Given the description of an element on the screen output the (x, y) to click on. 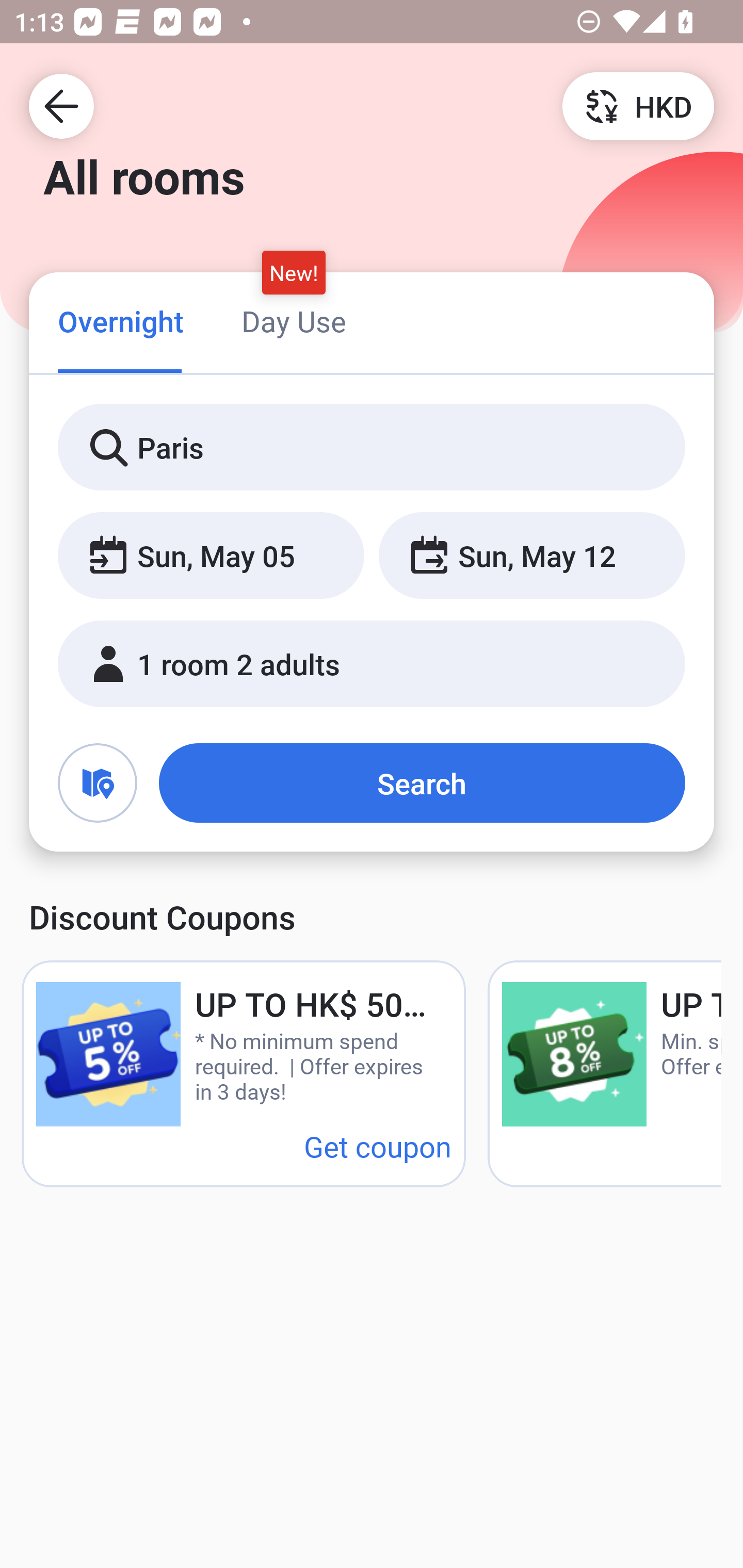
HKD (638, 105)
New! (294, 272)
Day Use (293, 321)
Paris (371, 447)
Sun, May 05 (210, 555)
Sun, May 12 (531, 555)
1 room 2 adults (371, 663)
Search (422, 783)
Get coupon (377, 1146)
